Given the description of an element on the screen output the (x, y) to click on. 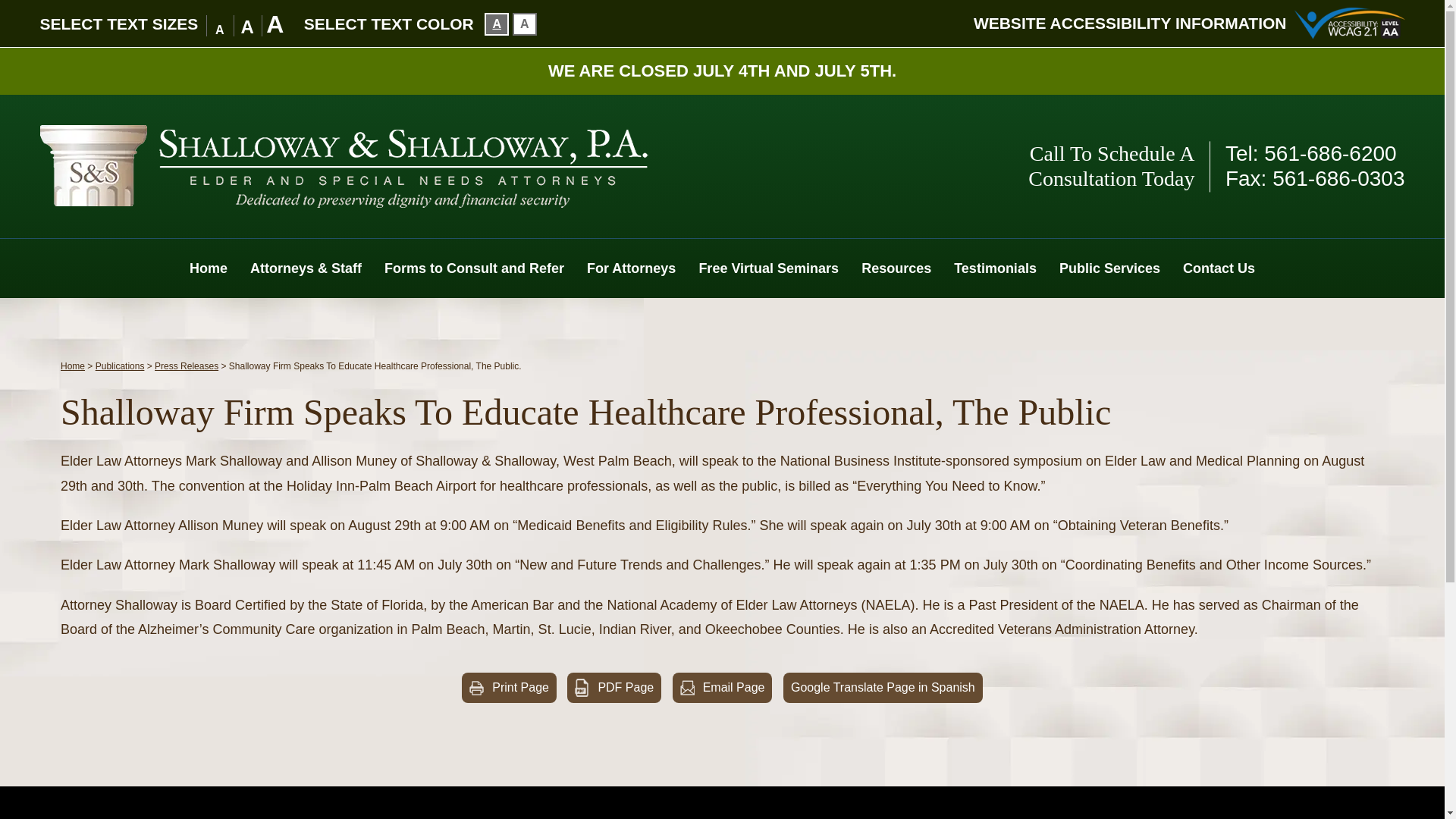
Invert Colors (524, 24)
A (524, 24)
WEBSITE ACCESSIBILITY INFORMATION (1130, 23)
561-686-6200 (1329, 153)
Home (207, 268)
Trust Payment Button (760, 810)
A (496, 24)
Forms to Consult and Refer (473, 268)
Free Virtual Seminars (768, 268)
For Attorneys (631, 268)
Invert Colors (496, 24)
Resources (896, 268)
Click to view external accessibility article (1130, 23)
